Given the description of an element on the screen output the (x, y) to click on. 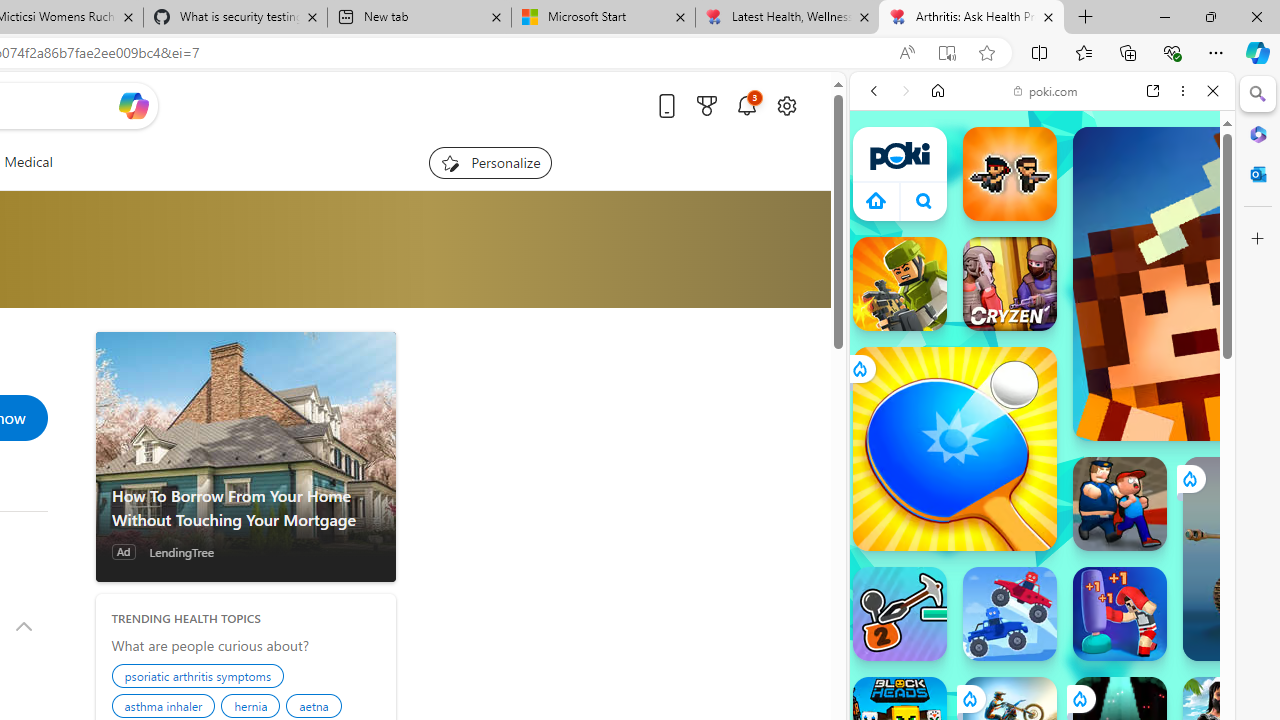
Show More Io Games (1164, 619)
Kour.io (899, 283)
Ping Pong Go! Ping Pong Go! (954, 448)
Escape From School Escape From School (1119, 503)
Car Games (1042, 469)
Battle Wheels Battle Wheels (1009, 613)
